Given the description of an element on the screen output the (x, y) to click on. 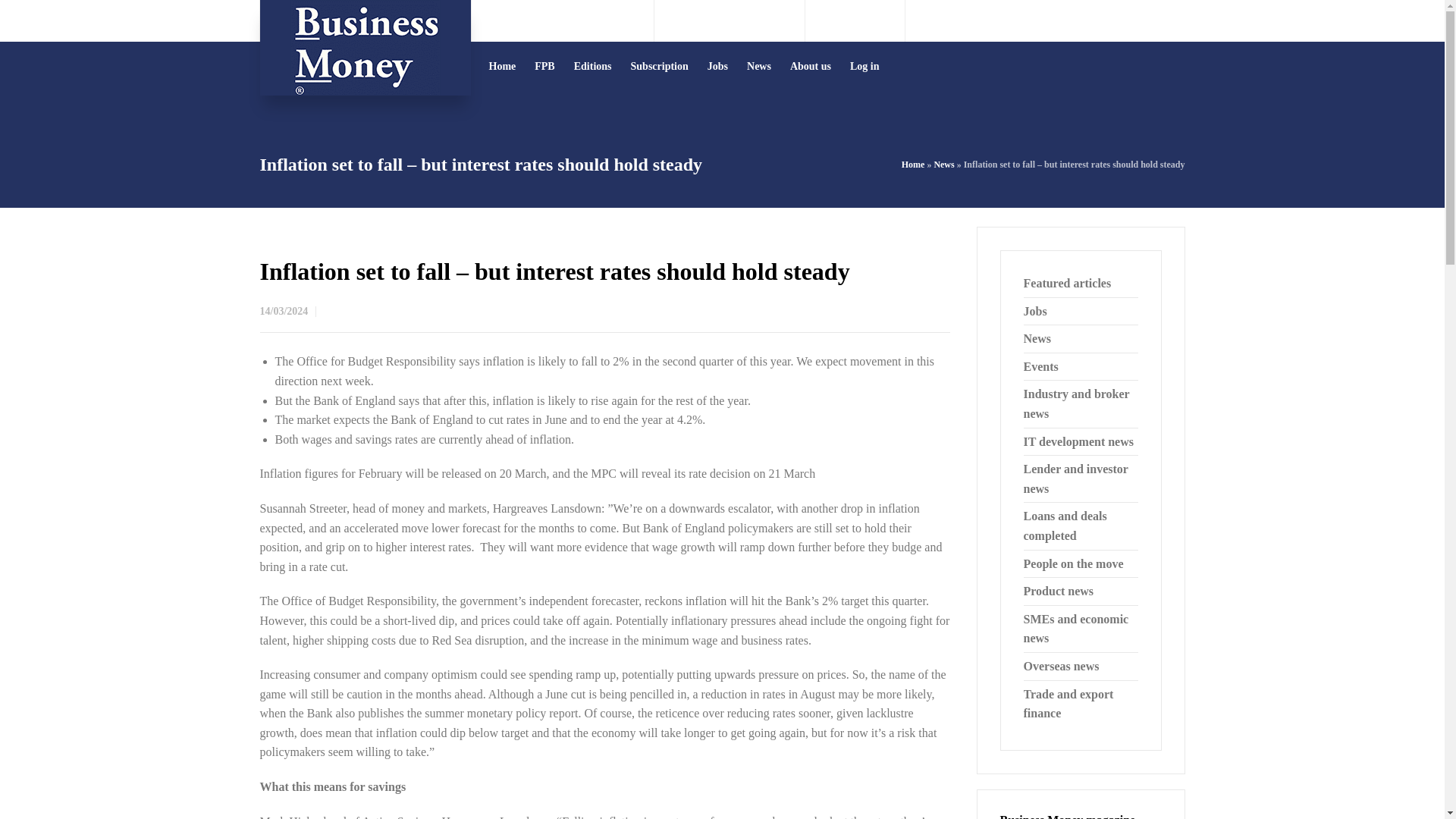
Contact us (574, 19)
click to call (742, 19)
Business Money (364, 47)
Facebook (855, 20)
Log in (865, 65)
News (943, 163)
Editions (592, 65)
Home (912, 163)
About us (810, 65)
Home (502, 65)
